Given the description of an element on the screen output the (x, y) to click on. 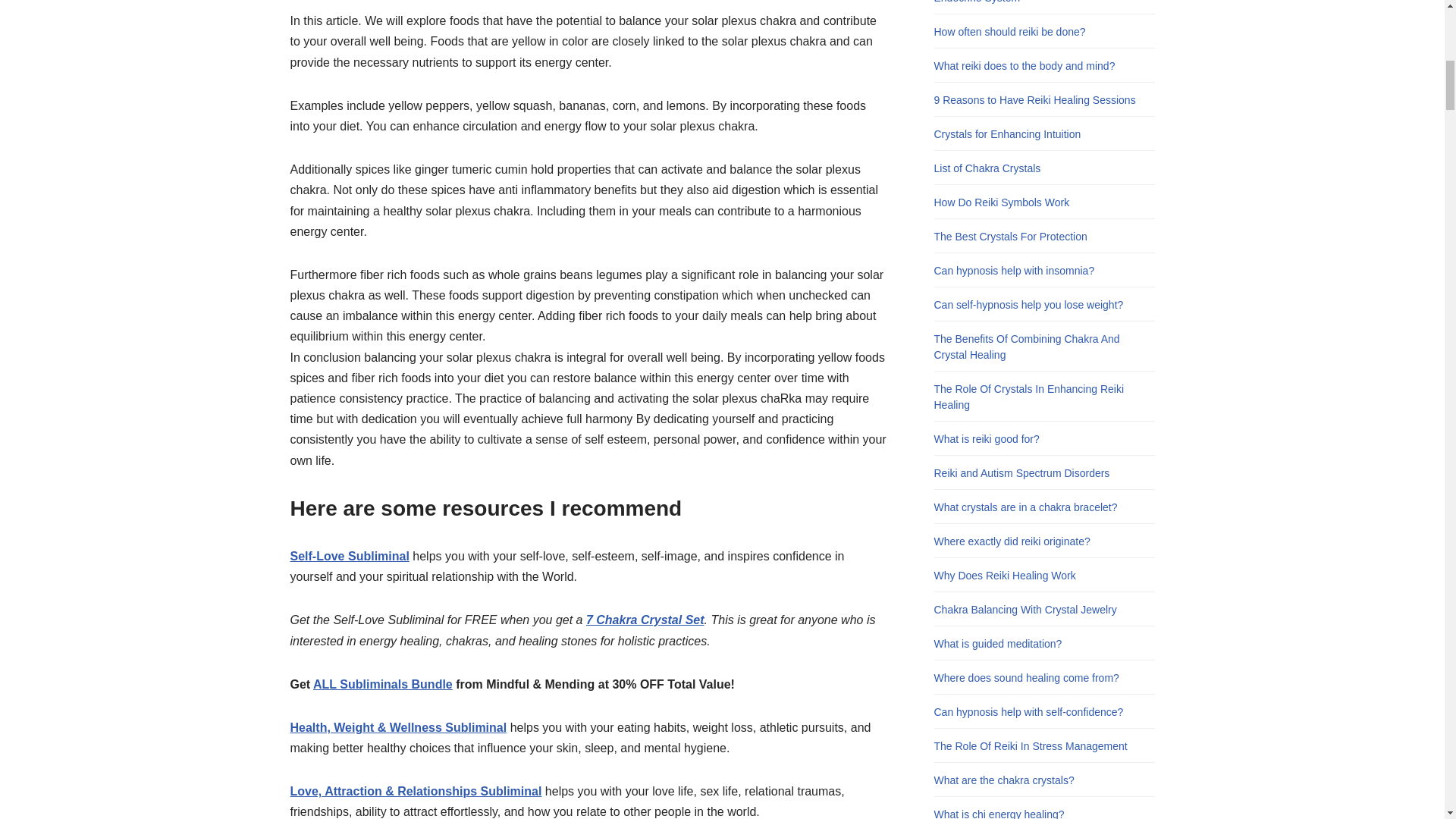
ALL Subliminals (360, 684)
Bundle (429, 684)
Self-Love Subliminal (349, 555)
7 Chakra Crystal Set (645, 619)
